Given the description of an element on the screen output the (x, y) to click on. 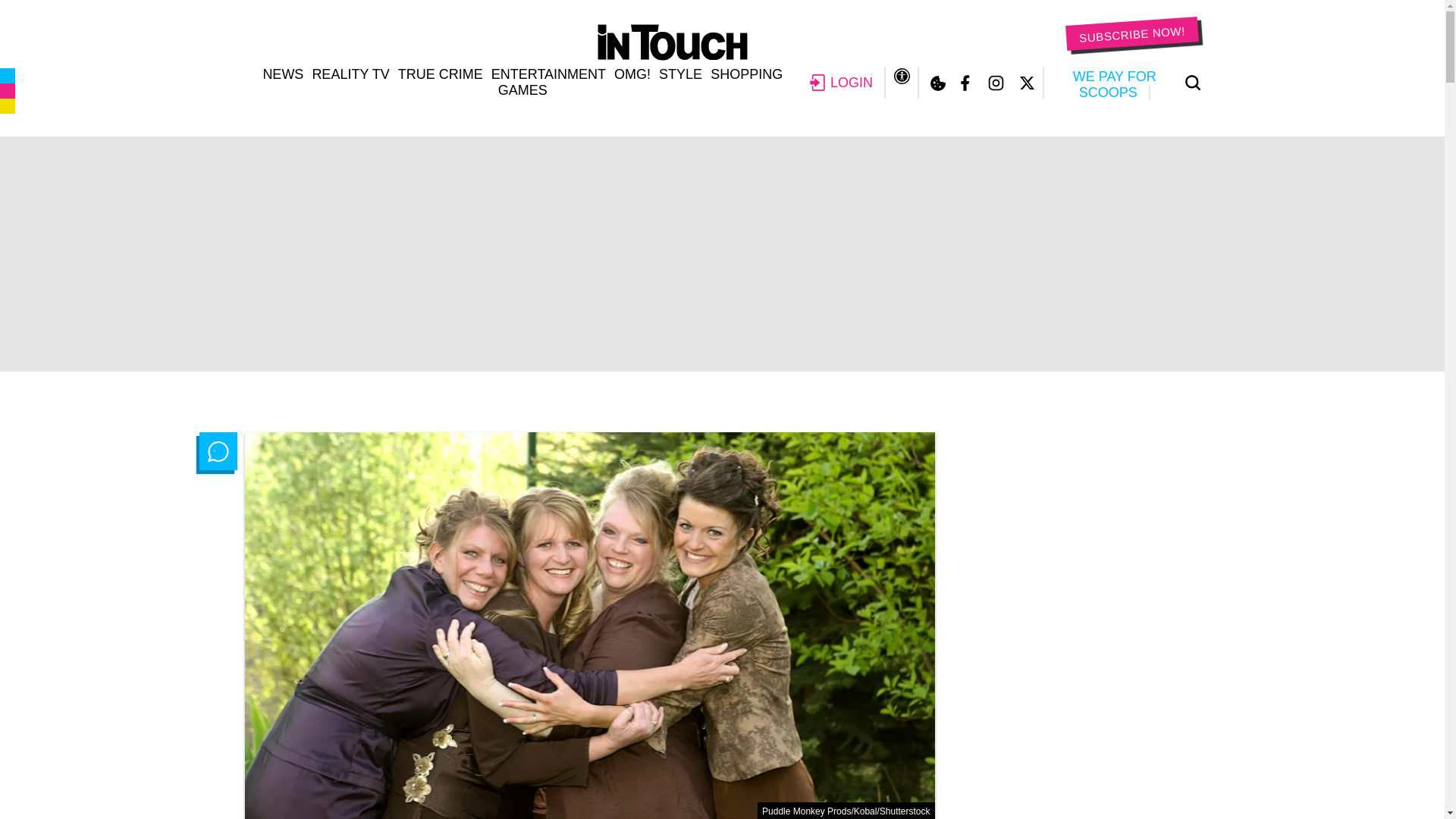
REALITY TV (349, 73)
TRUE CRIME (440, 73)
NEWS (282, 73)
